Given the description of an element on the screen output the (x, y) to click on. 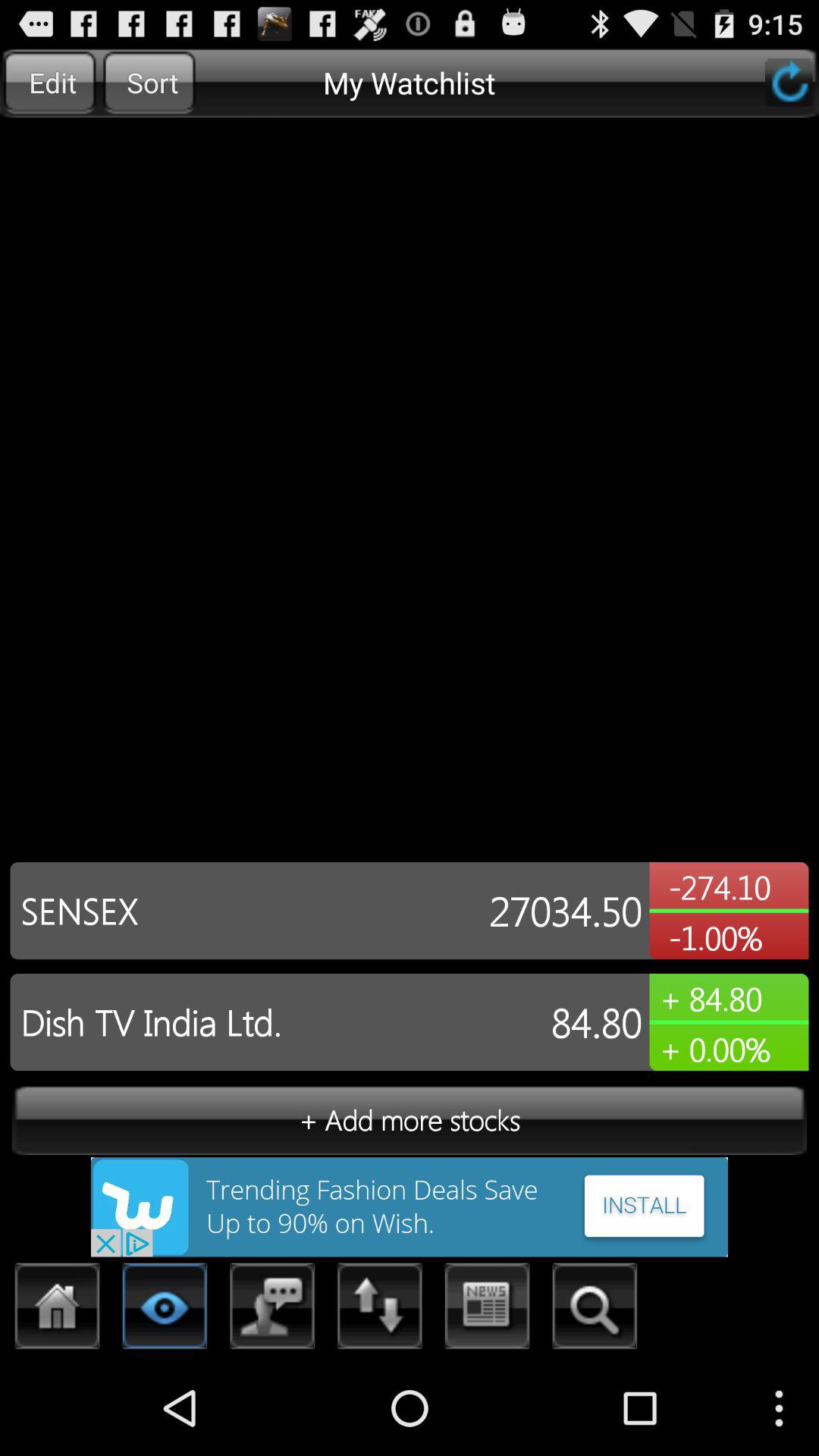
access the news (487, 1310)
